Given the description of an element on the screen output the (x, y) to click on. 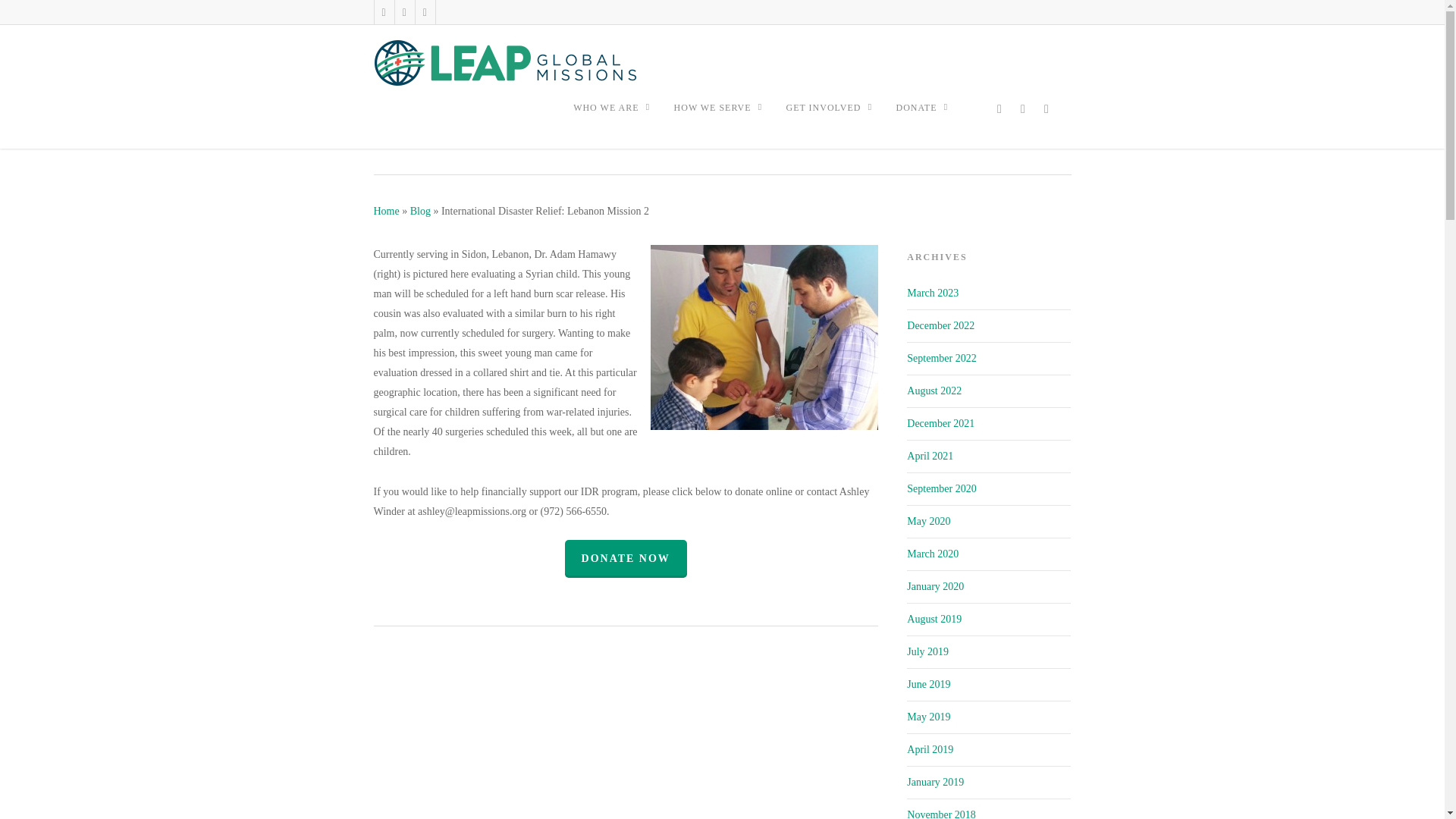
Volunteers (784, 141)
LEAP Stories (723, 141)
HOW WE SERVE (722, 117)
WHO WE ARE (615, 117)
ISAPS (670, 141)
0 (990, 114)
Posts by Ashley Winder (422, 141)
GET INVOLVED (833, 117)
No Comments (908, 114)
Ashley Winder (422, 141)
DONATE (926, 117)
Blog (566, 141)
Love this (990, 114)
Disaster Relief (616, 141)
